Given the description of an element on the screen output the (x, y) to click on. 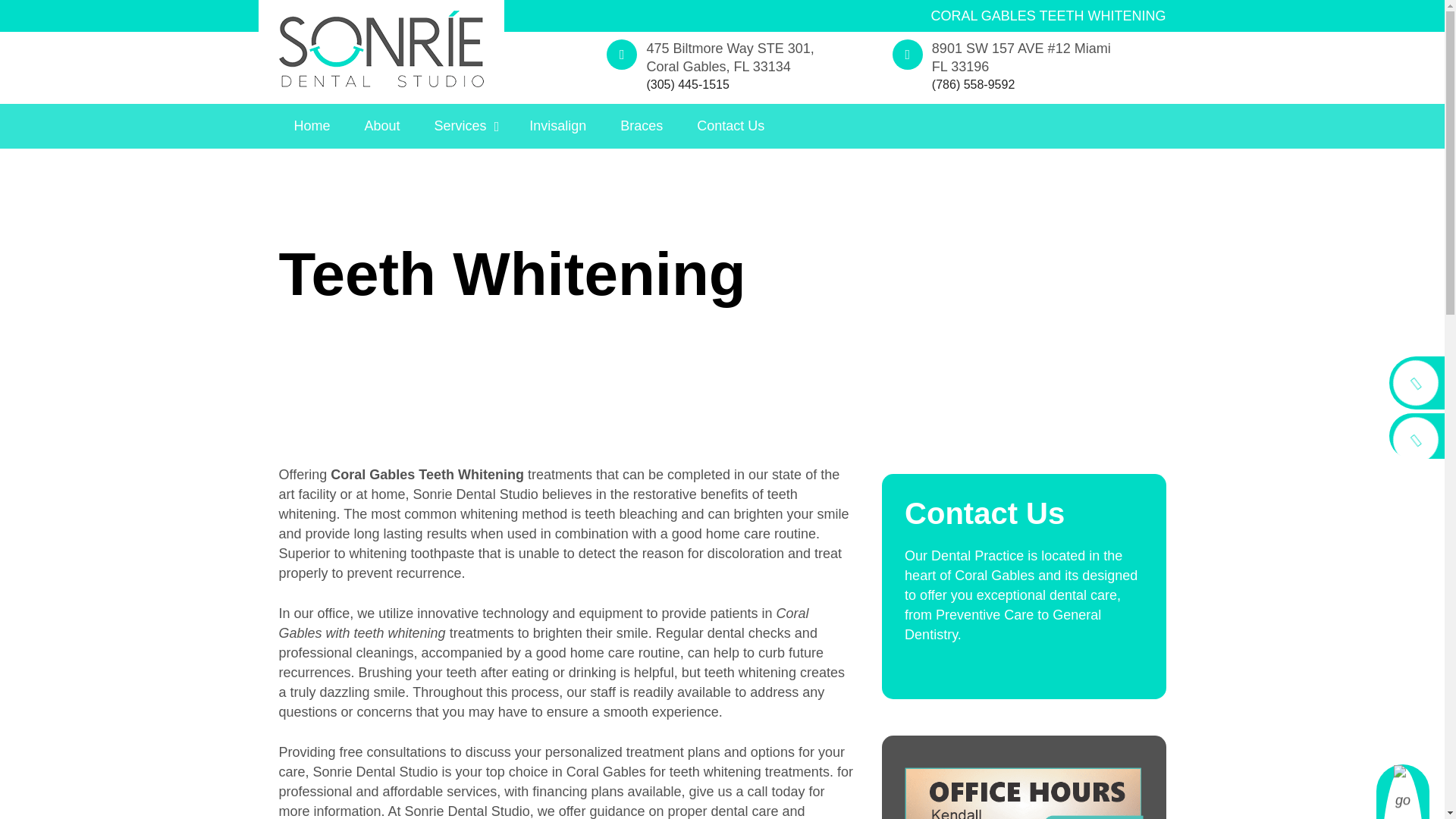
Contact Us (729, 125)
Braces (641, 125)
Home (312, 125)
Services (465, 125)
About (381, 125)
Invisalign (557, 125)
